Given the description of an element on the screen output the (x, y) to click on. 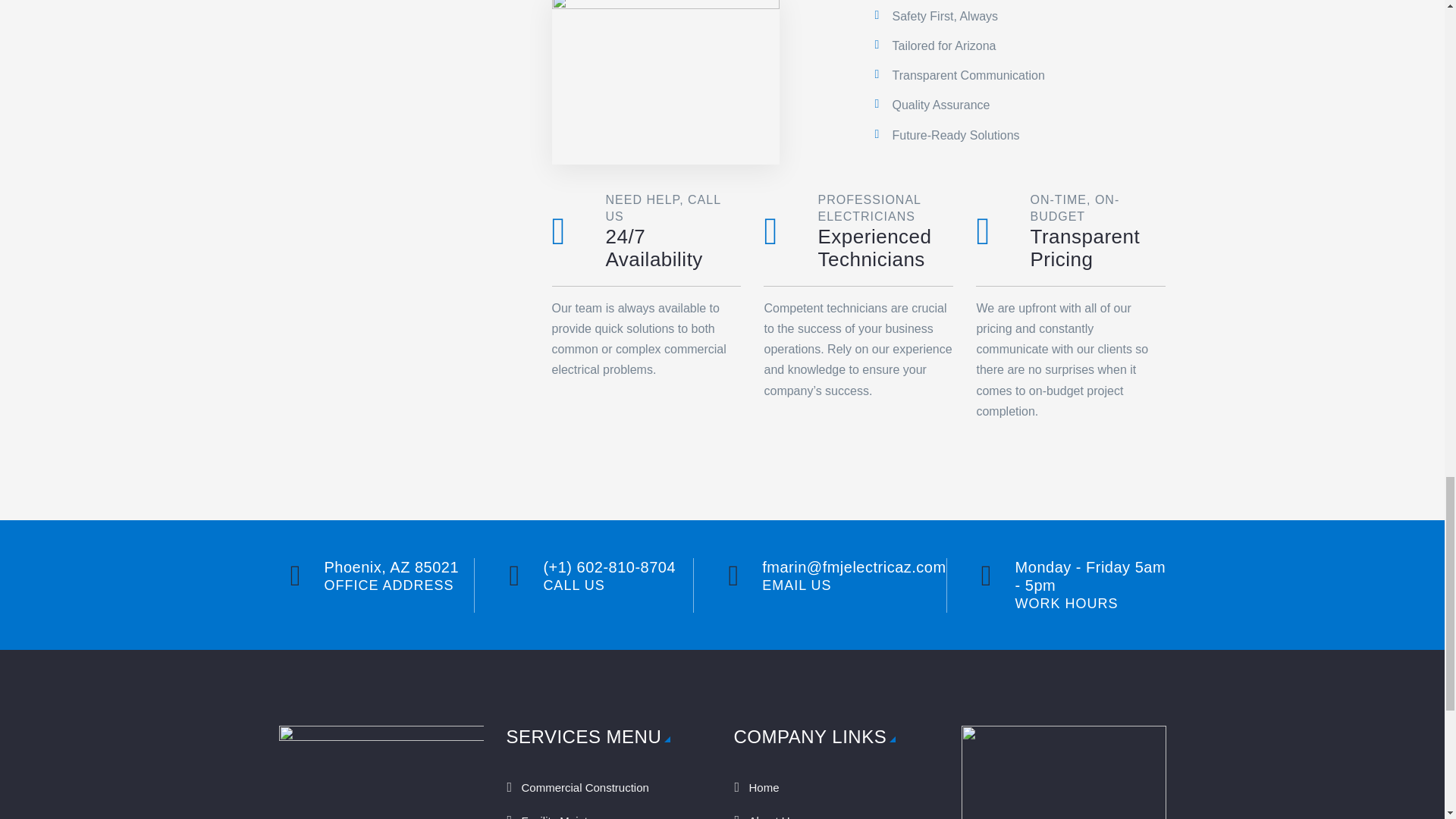
Home (836, 787)
Facility Maintenance (608, 811)
About Us (836, 811)
Commercial Construction (608, 787)
